Given the description of an element on the screen output the (x, y) to click on. 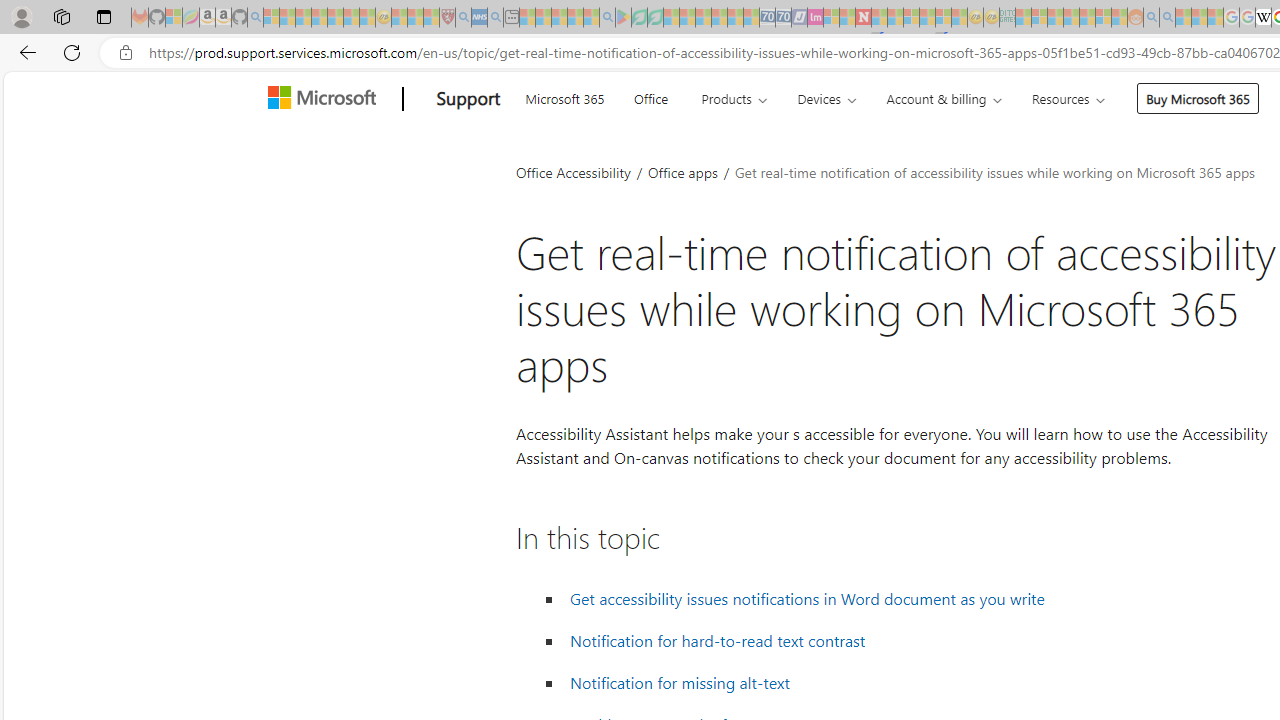
 Notification for hard-to-read text contrast (717, 641)
